Given the description of an element on the screen output the (x, y) to click on. 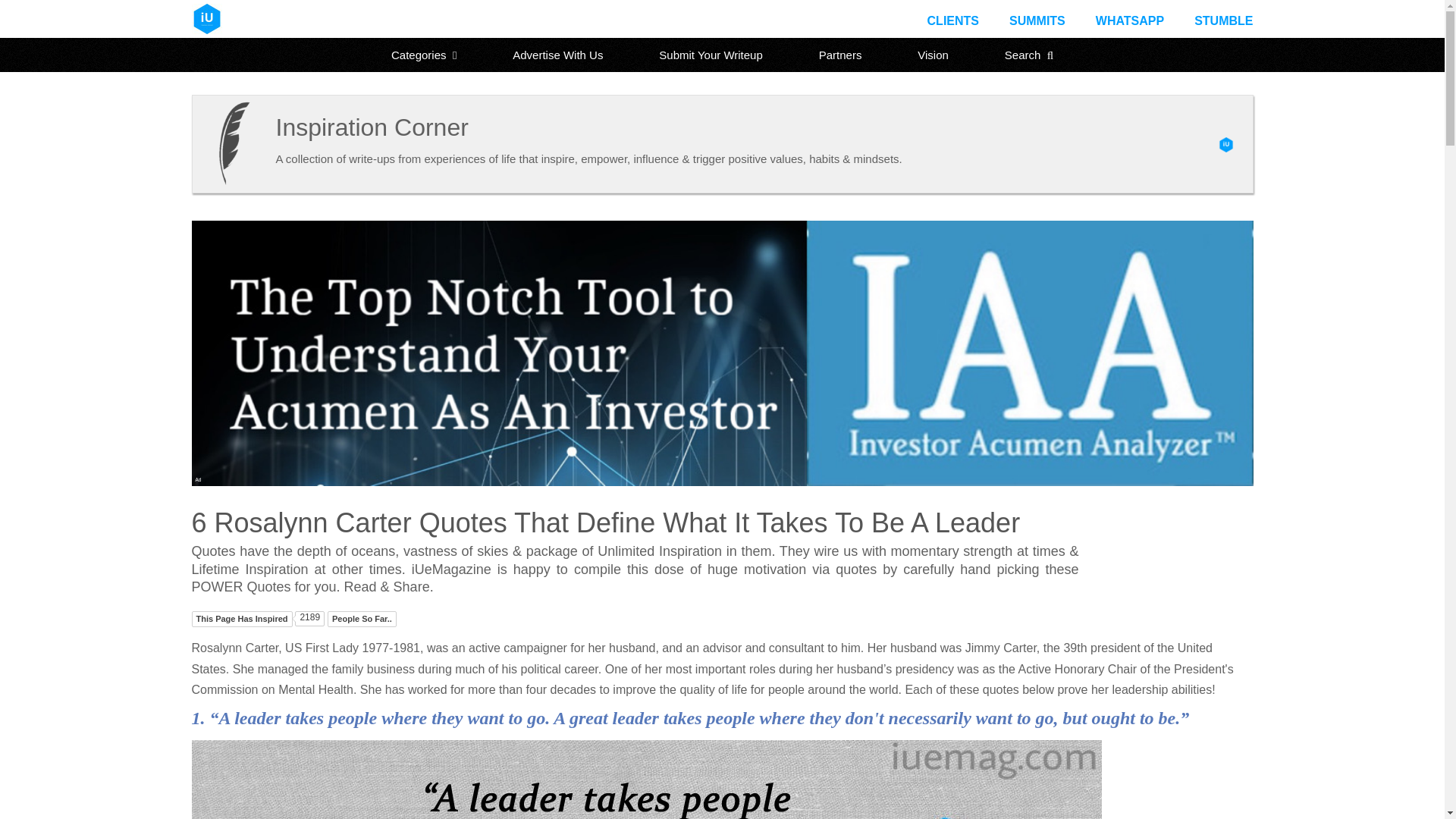
Categories   (424, 54)
Advertise With Us (557, 55)
WHATSAPP (1129, 20)
Submit Your Writeup (710, 55)
Search   (1029, 55)
Vision (933, 55)
STUMBLE (1222, 20)
Partners (840, 55)
CLIENTS (952, 20)
SUMMITS (1037, 20)
